Given the description of an element on the screen output the (x, y) to click on. 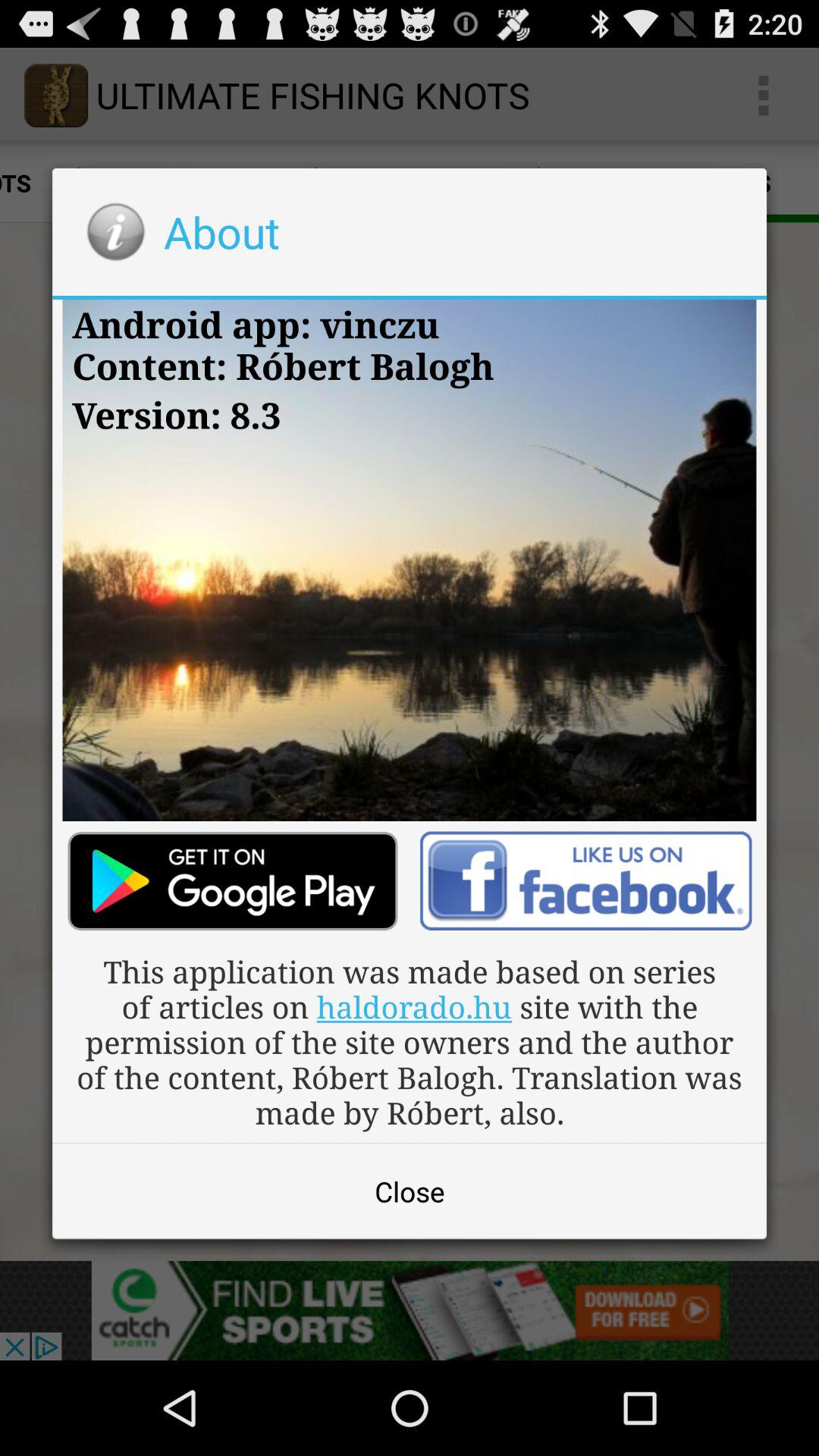
turn to google play (232, 881)
